Given the description of an element on the screen output the (x, y) to click on. 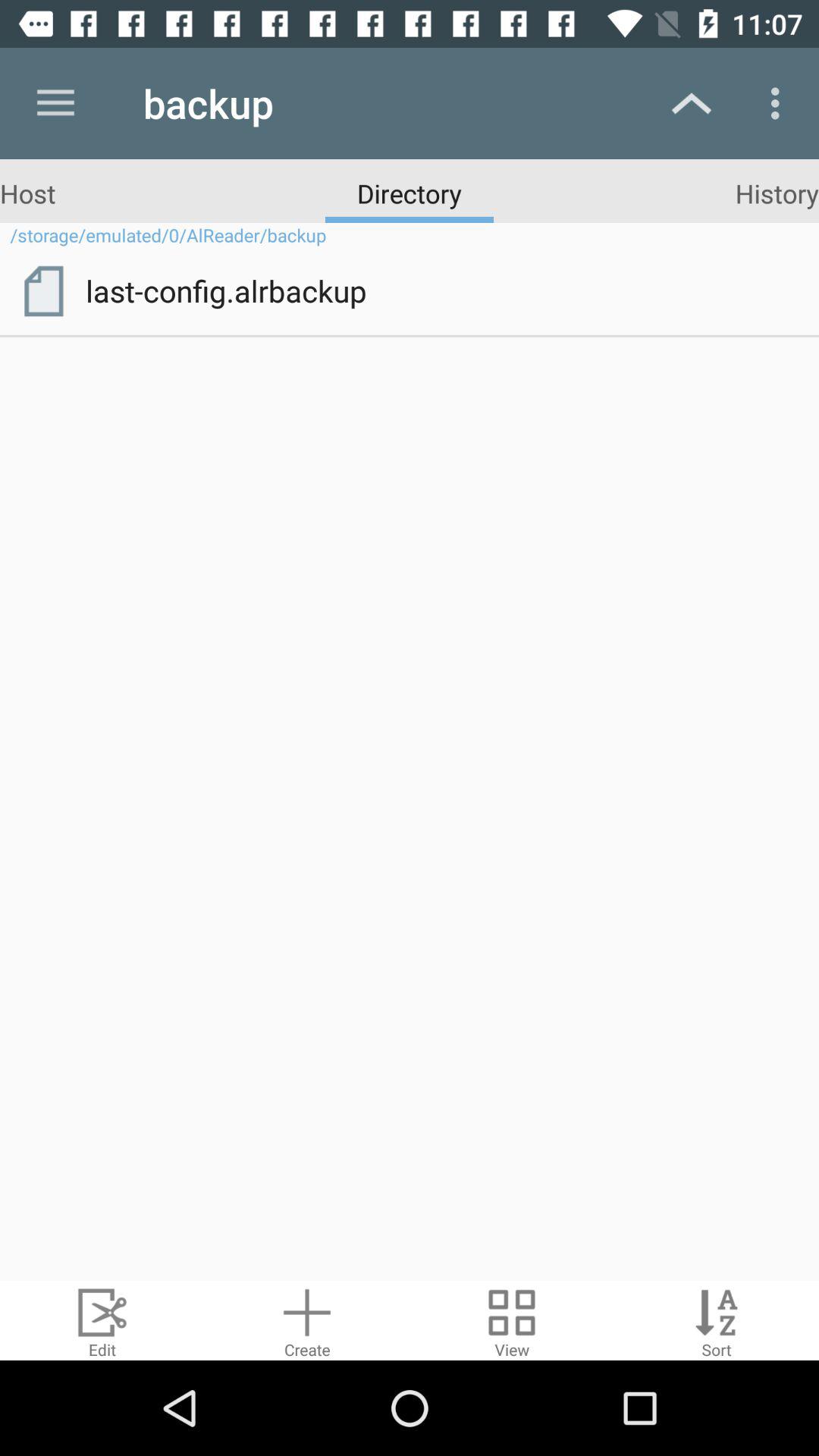
view (511, 1320)
